Given the description of an element on the screen output the (x, y) to click on. 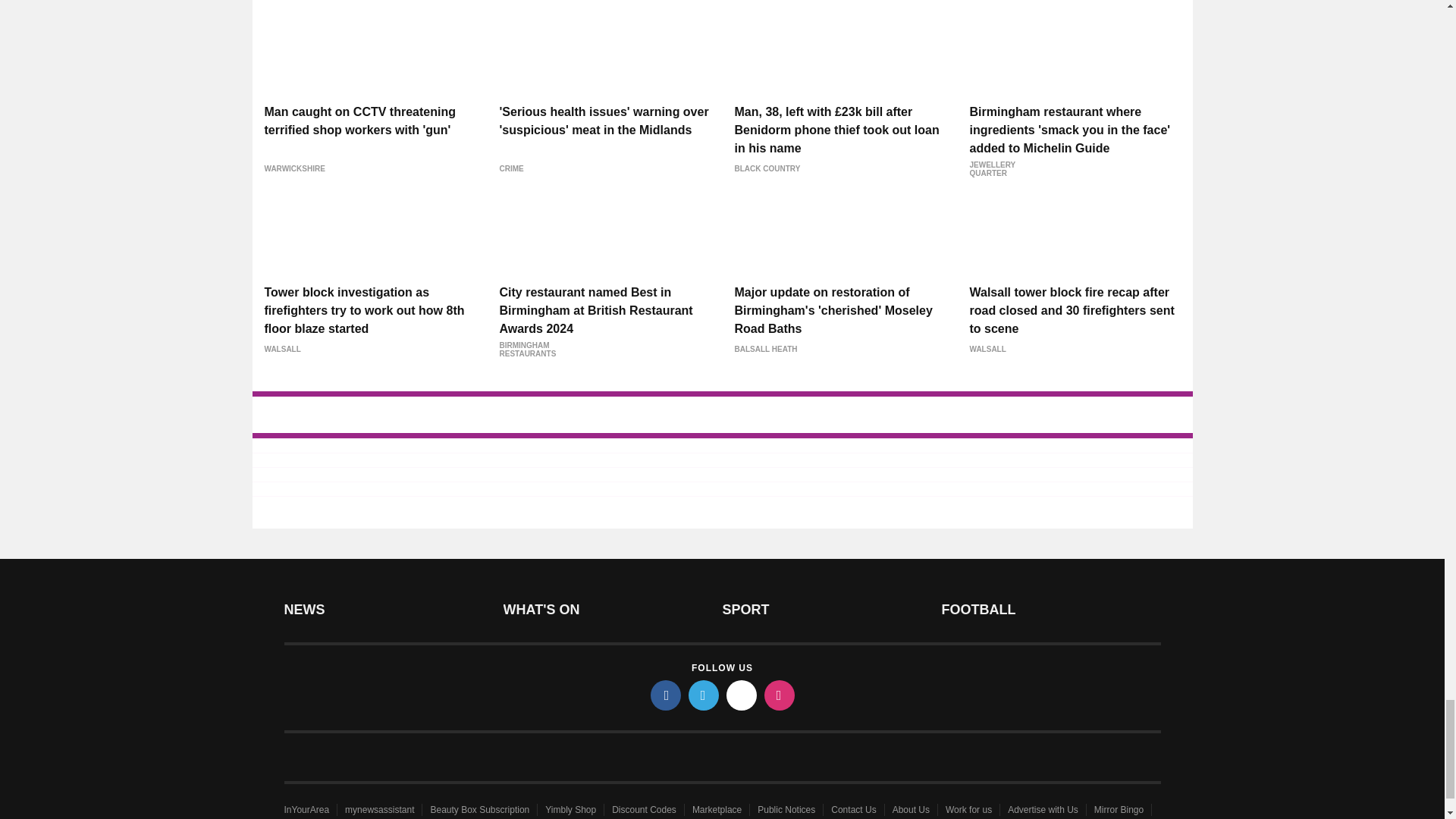
facebook (665, 695)
tiktok (741, 695)
instagram (779, 695)
twitter (703, 695)
